Given the description of an element on the screen output the (x, y) to click on. 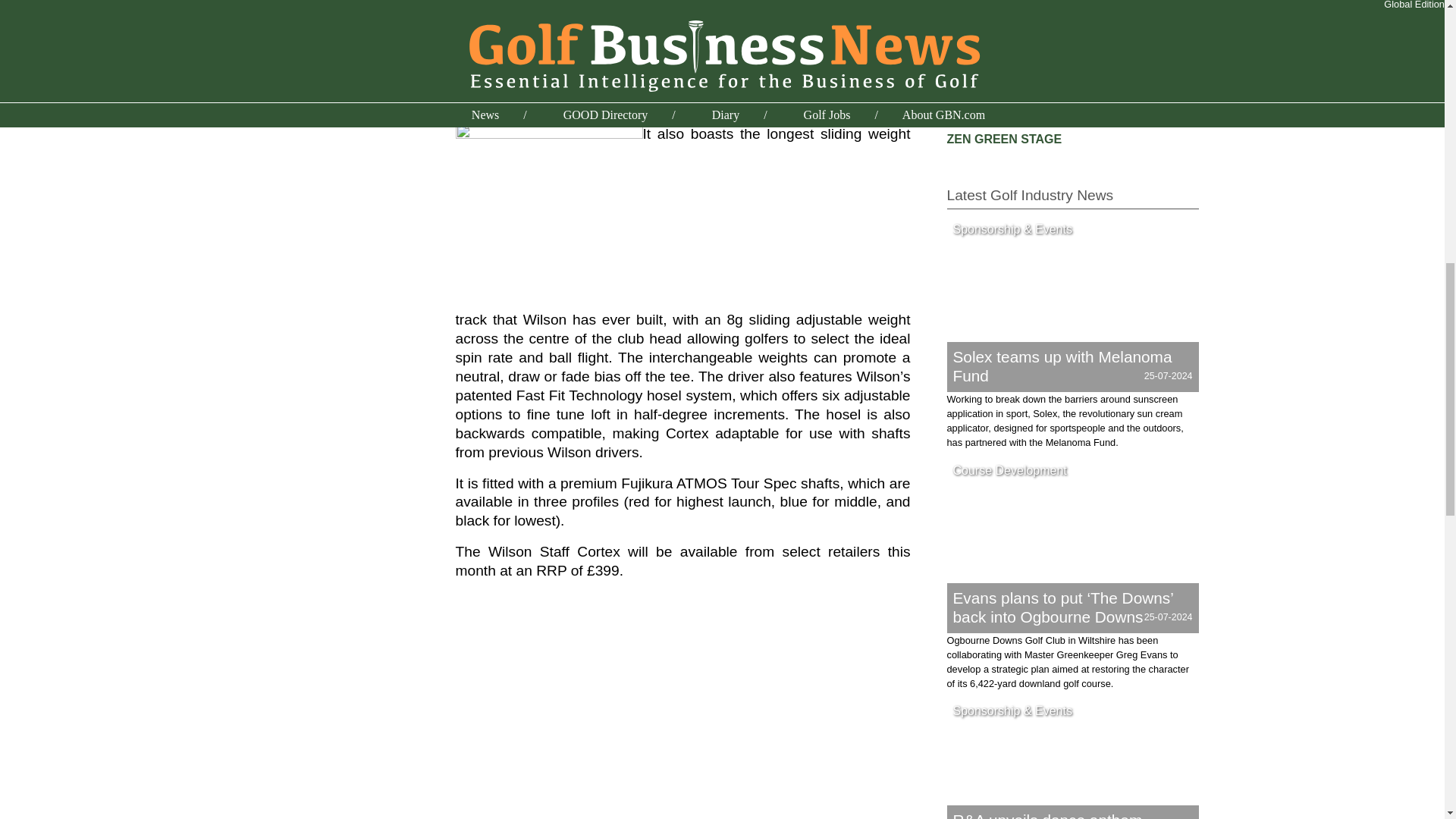
Course Development (1008, 470)
Wiedenmann UK (994, 120)
John Greasley Limited (1011, 17)
Seventy2 Golf (986, 35)
ZEN GREEN STAGE (1003, 138)
Syngenta (973, 83)
intelligentgolf (986, 2)
